Given the description of an element on the screen output the (x, y) to click on. 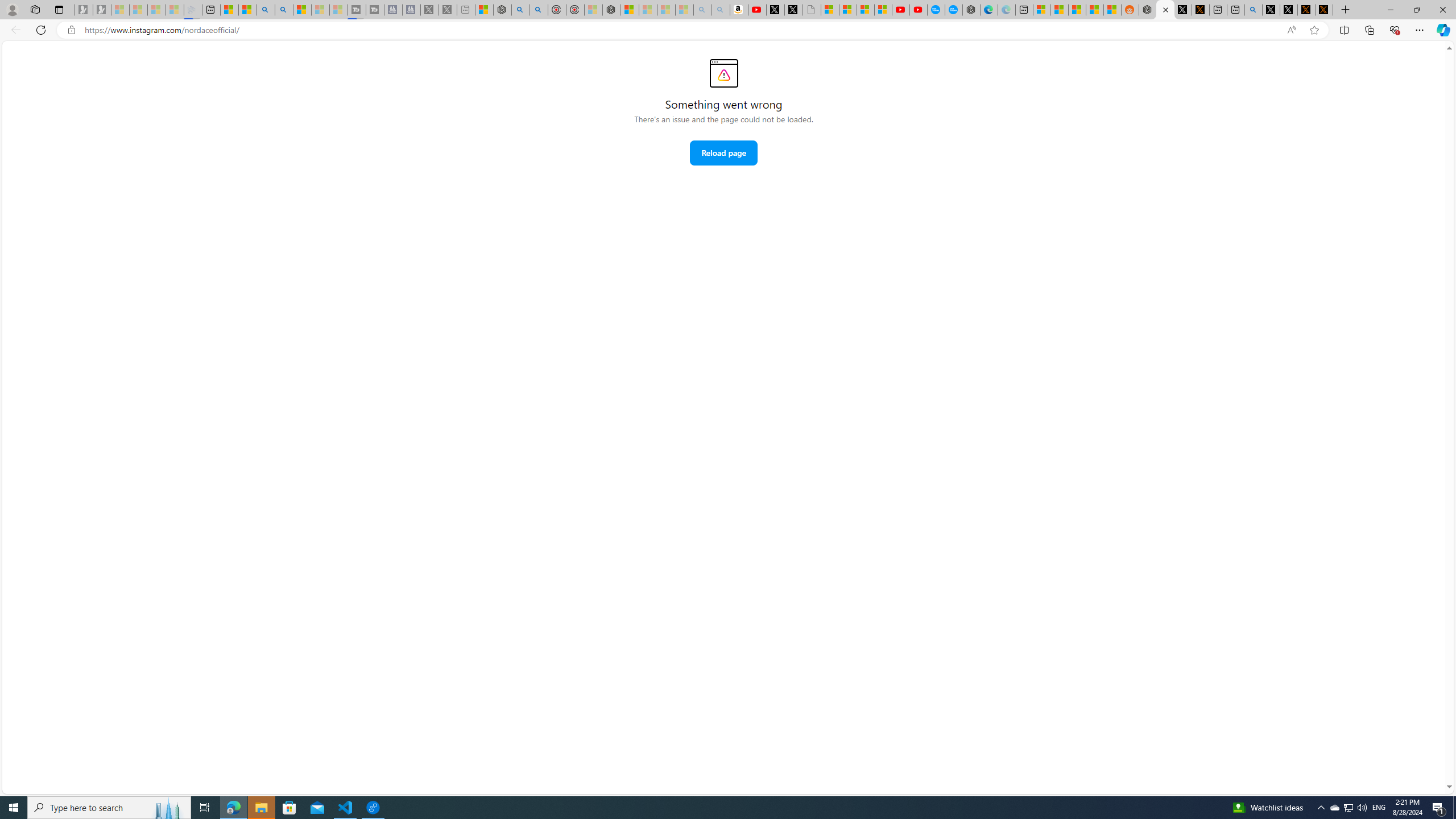
Nordace - Nordace has arrived Hong Kong (971, 9)
Microsoft account | Microsoft Account Privacy Settings (1041, 9)
Newsletter Sign Up - Sleeping (102, 9)
GitHub (@github) / X (1289, 9)
poe ++ standard - Search (539, 9)
Reload page (723, 152)
